Given the description of an element on the screen output the (x, y) to click on. 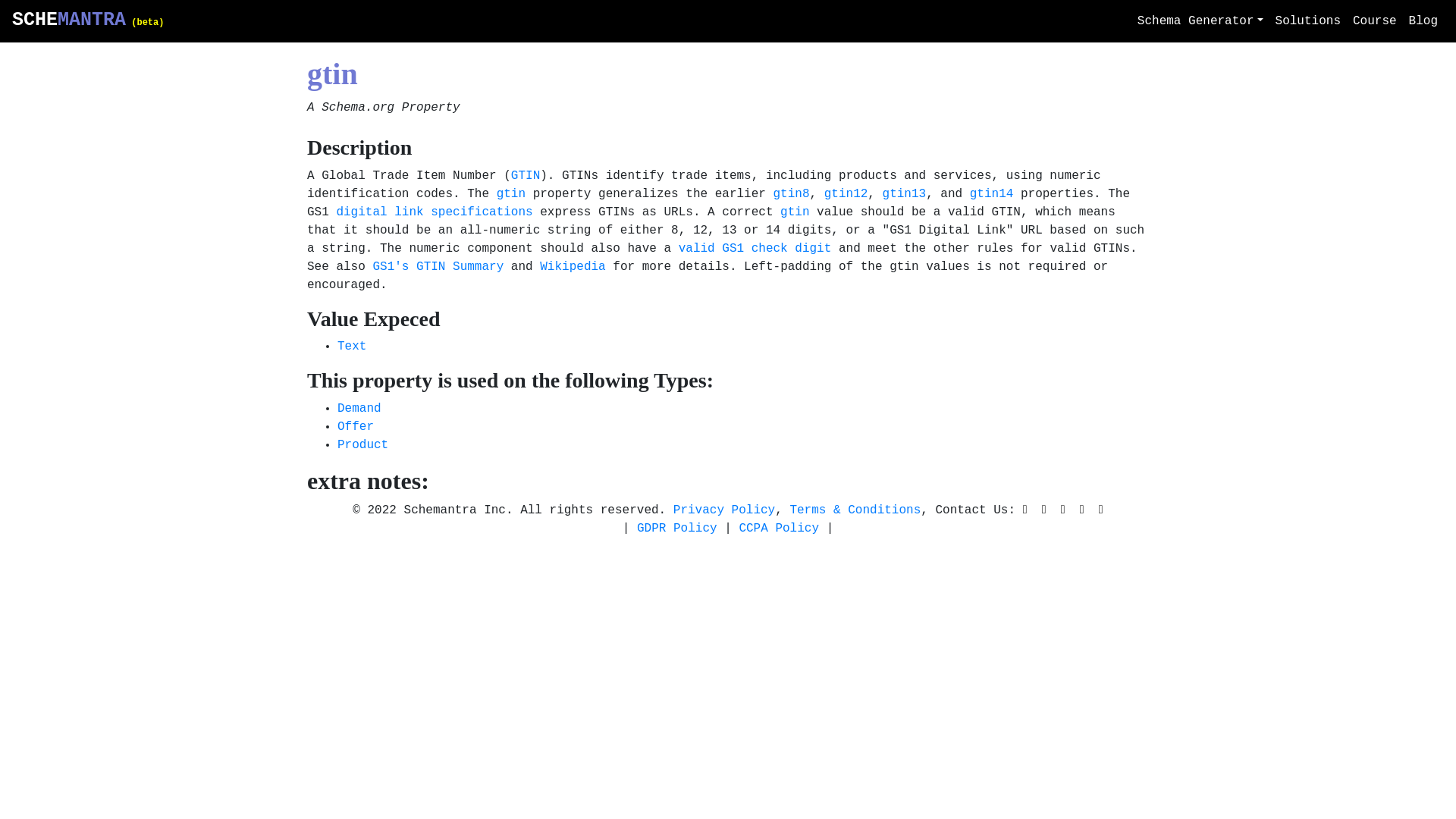
Privacy Policy (723, 509)
GDPR Policy (677, 528)
Wikipedia (572, 266)
Text (351, 345)
Demand (359, 408)
Blog (1423, 20)
Schema Generator (1200, 20)
gtin (510, 193)
valid GS1 check digit (754, 248)
gtin8 (791, 193)
Solutions (1307, 20)
gtin12 (845, 193)
gtin (794, 212)
CCPA Policy (778, 528)
Product (362, 445)
